Given the description of an element on the screen output the (x, y) to click on. 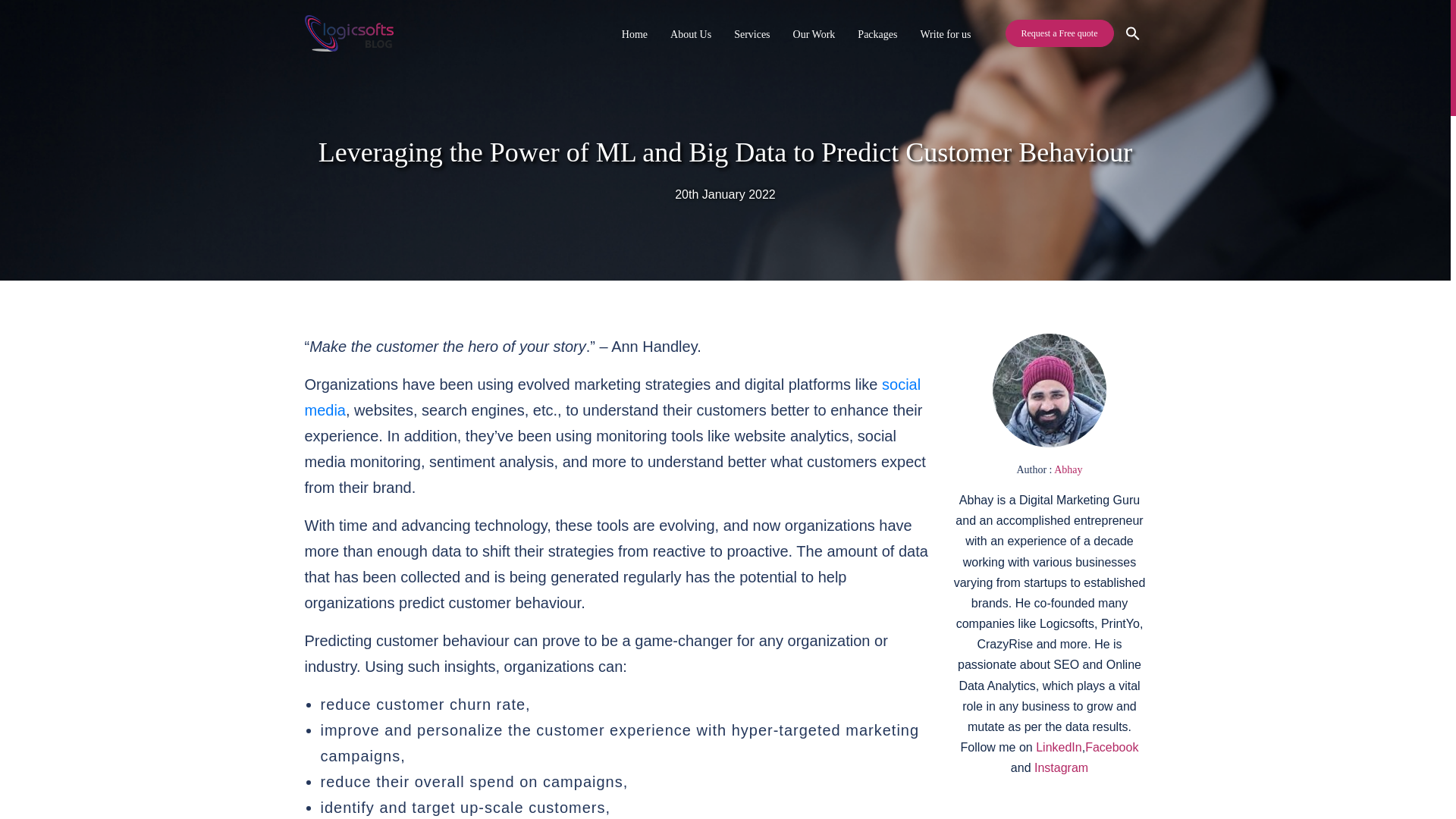
Our Work (814, 34)
About Us (690, 34)
Packages (876, 34)
Home (634, 34)
Services (752, 34)
social media (612, 396)
Request a Free quote (1059, 32)
Write for us (945, 34)
